Given the description of an element on the screen output the (x, y) to click on. 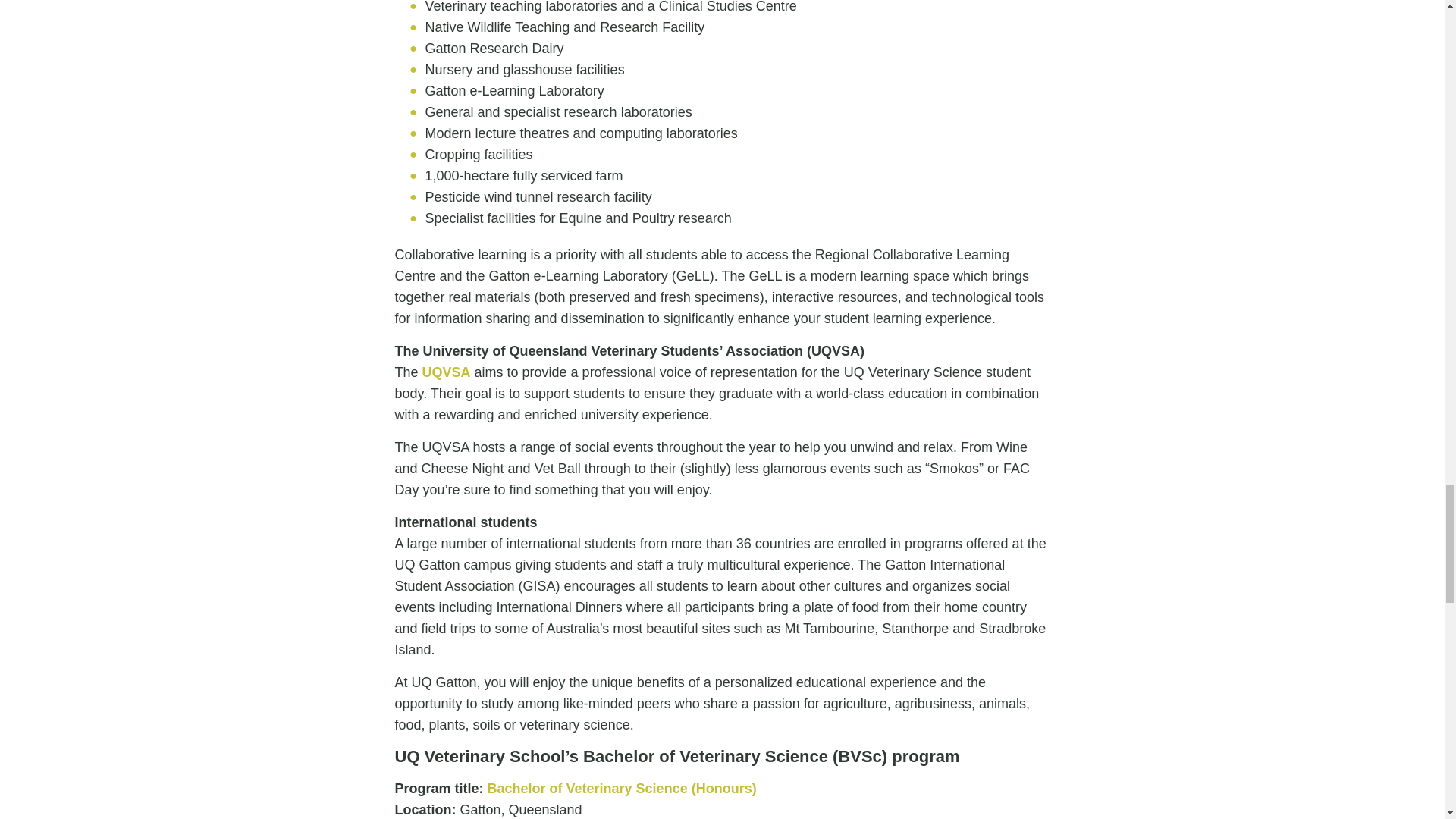
UQ's Bachelor of Veterinary Science program (622, 788)
